Given the description of an element on the screen output the (x, y) to click on. 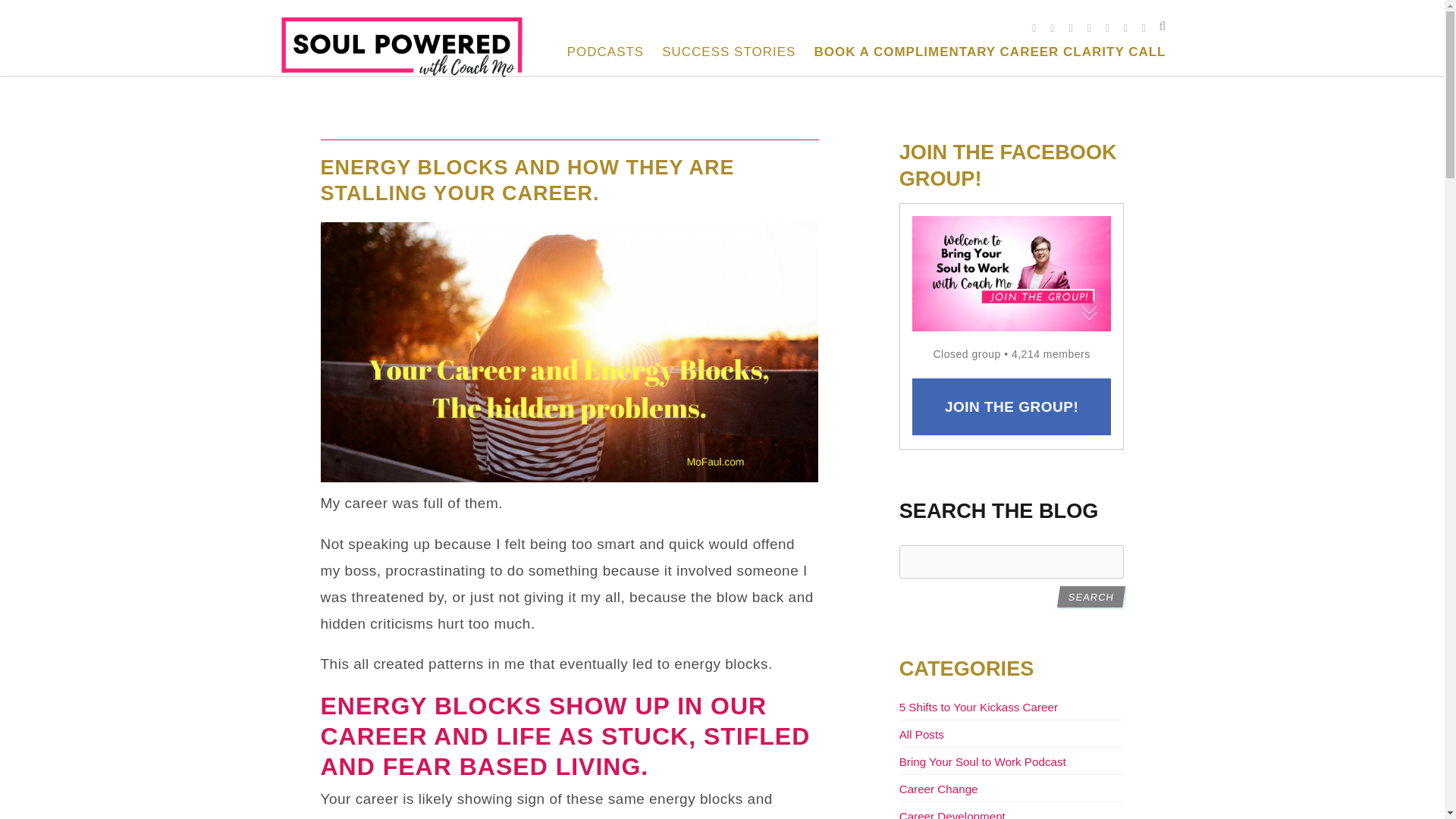
Career Development (952, 814)
5 Shifts to Your Kickass Career (978, 707)
BOOK A COMPLIMENTARY CAREER CLARITY CALL (989, 52)
Search (1089, 596)
SUCCESS STORIES (728, 52)
Search (1089, 596)
Career Change (938, 788)
Bring Your Soul to Work Podcast (982, 761)
PODCASTS (606, 52)
